Given the description of an element on the screen output the (x, y) to click on. 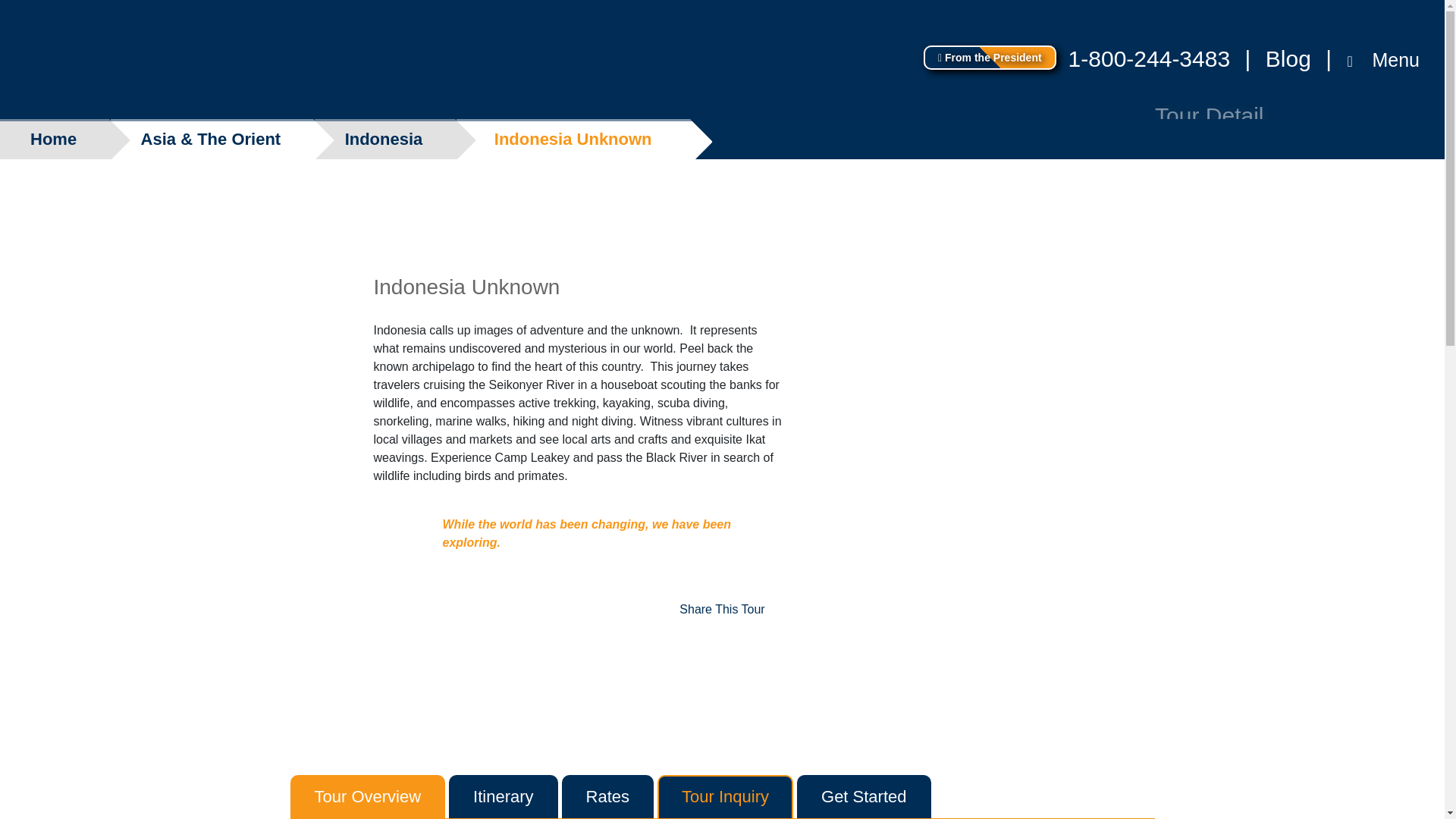
Menu (1387, 59)
1-800-244-3483 (1149, 58)
Big Five (67, 60)
From the President (990, 57)
Blog (1288, 58)
